Given the description of an element on the screen output the (x, y) to click on. 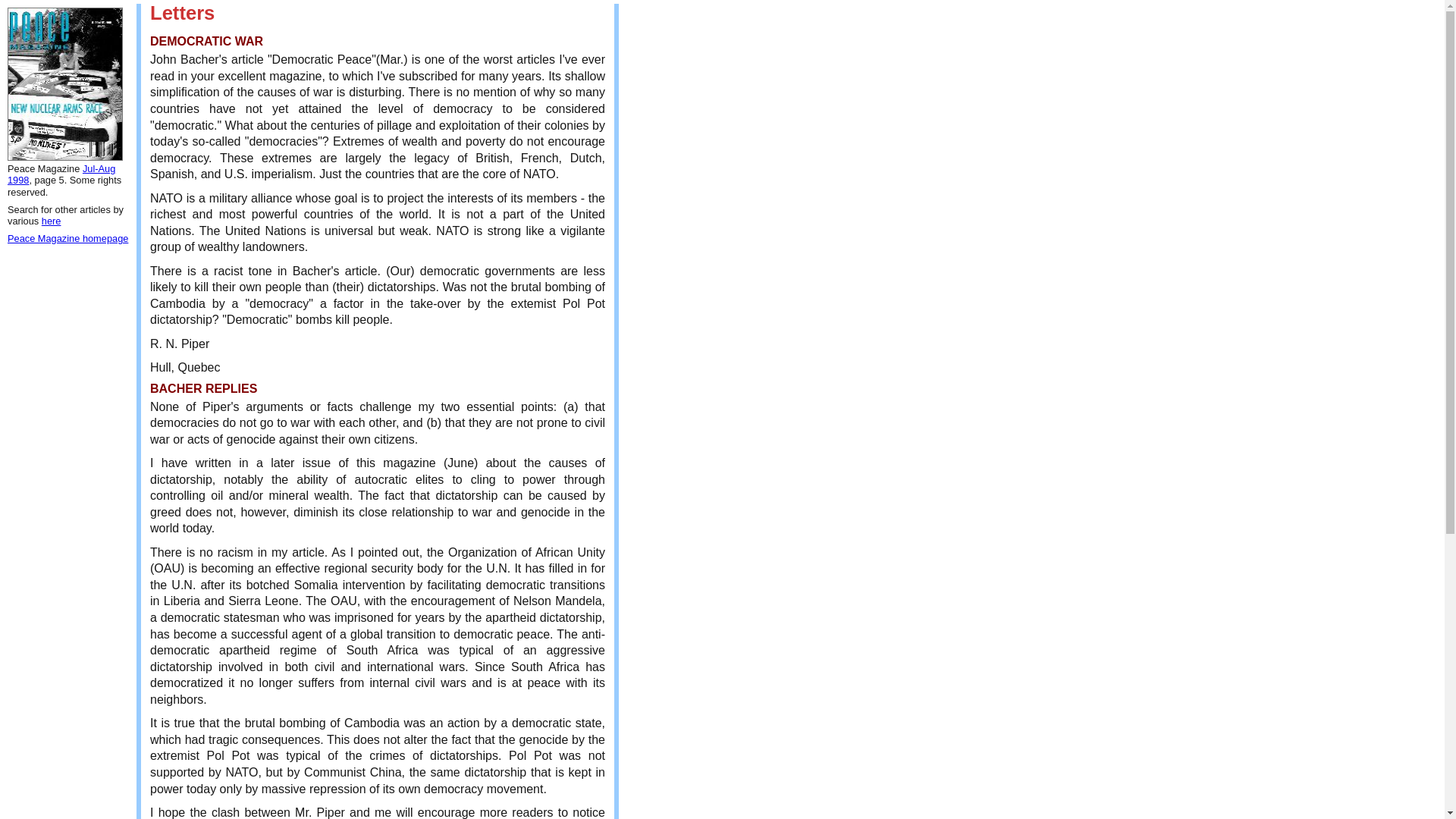
Peace Magazine homepage (67, 238)
Jul-Aug 1998 (61, 173)
here (51, 220)
